Given the description of an element on the screen output the (x, y) to click on. 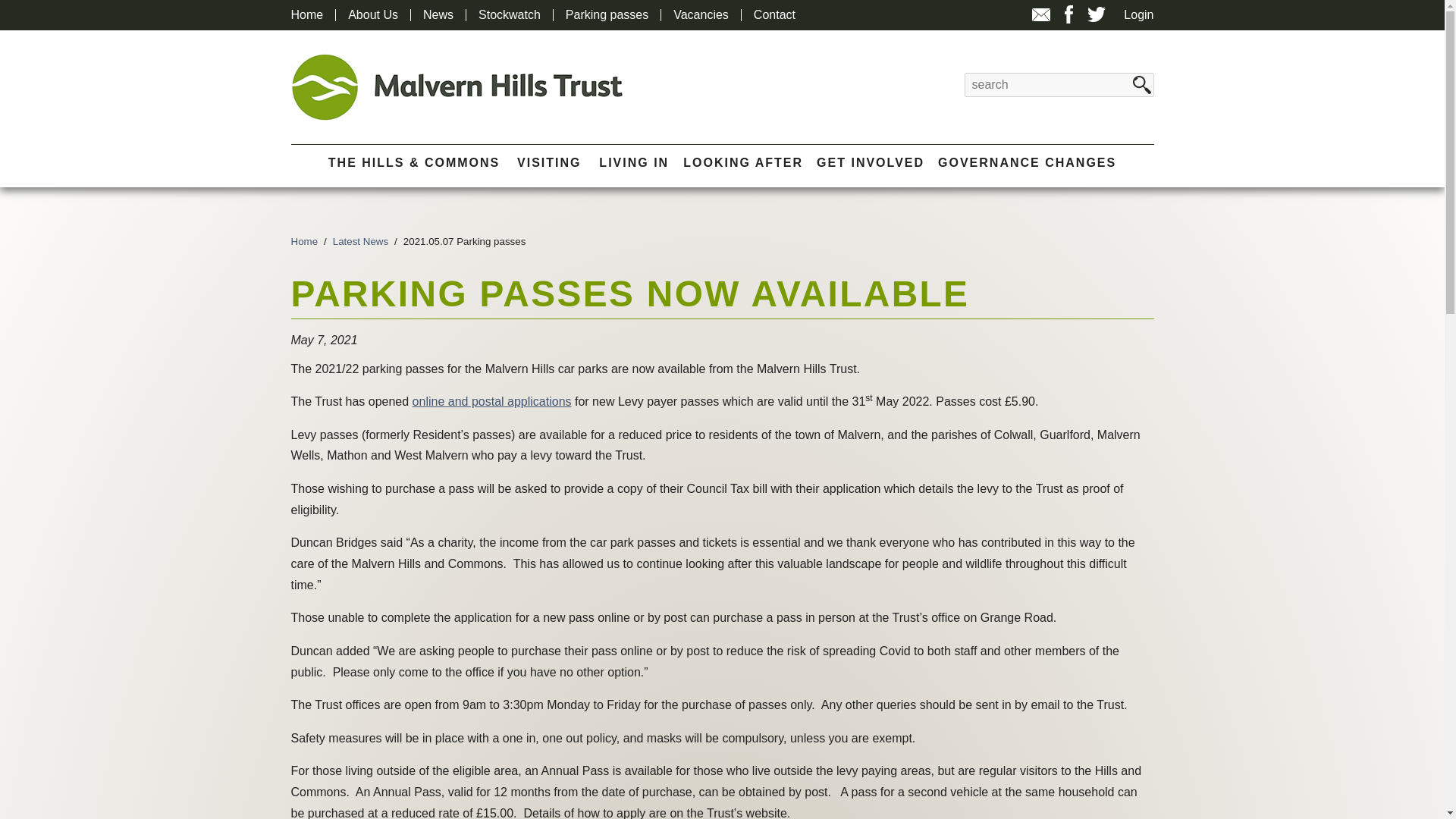
Parking (492, 400)
About Us (372, 15)
Follow us on Facebook (1068, 13)
Contact (774, 15)
Stockwatch (509, 15)
VISITING (548, 162)
Follow us on Twitter (1096, 13)
Home (307, 15)
seach (1141, 84)
Parking passes (606, 15)
Login (1138, 15)
LIVING IN (633, 162)
News (437, 15)
Vacancies (700, 15)
Signup to our Newsletter (1040, 21)
